Given the description of an element on the screen output the (x, y) to click on. 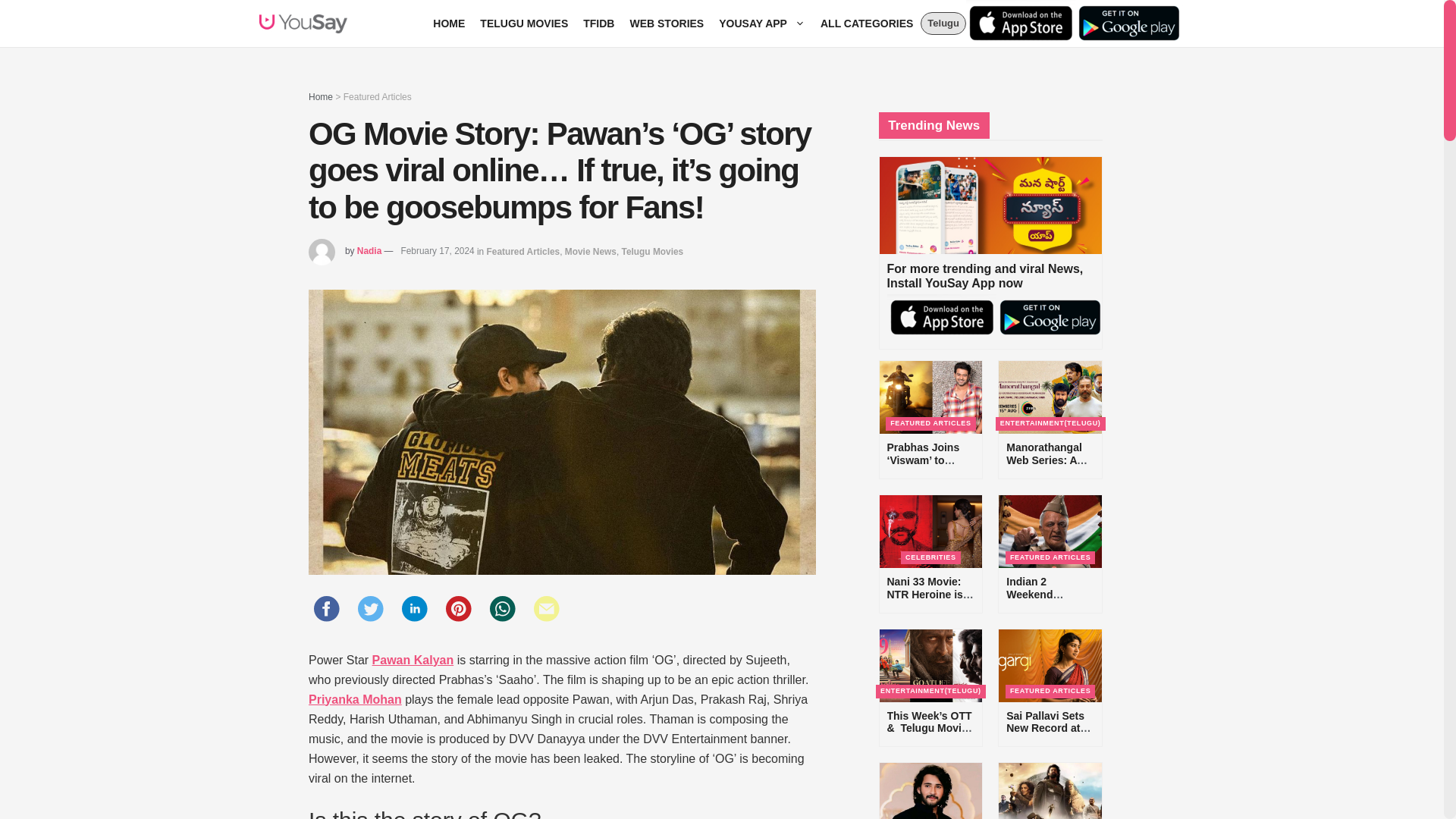
YOUSAY APP (761, 22)
HOME (448, 22)
TFIDB (598, 22)
TELUGU MOVIES (523, 22)
For more trending and viral News, Install YouSay App now (989, 252)
WEB STORIES (666, 22)
Telugu (943, 23)
ALL CATEGORIES (866, 22)
